Given the description of an element on the screen output the (x, y) to click on. 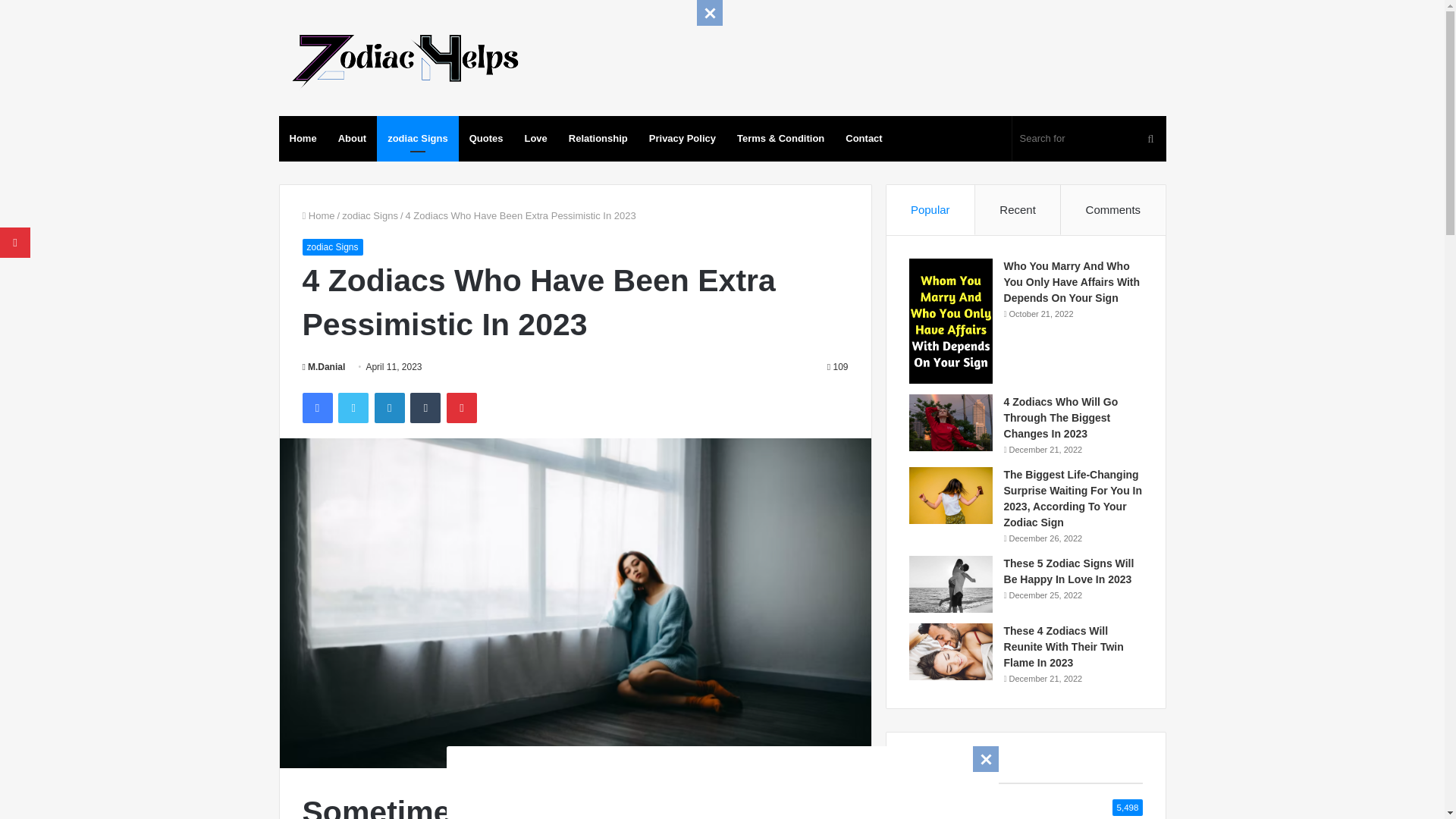
Advertisement (721, 780)
M.Danial (323, 366)
Pinterest (461, 408)
Twitter (352, 408)
Tumblr (425, 408)
Pinterest (461, 408)
Tumblr (425, 408)
Contact (863, 138)
Privacy Policy (682, 138)
Love (535, 138)
Home (303, 138)
About (352, 138)
M.Danial (323, 366)
LinkedIn (389, 408)
Facebook (316, 408)
